Given the description of an element on the screen output the (x, y) to click on. 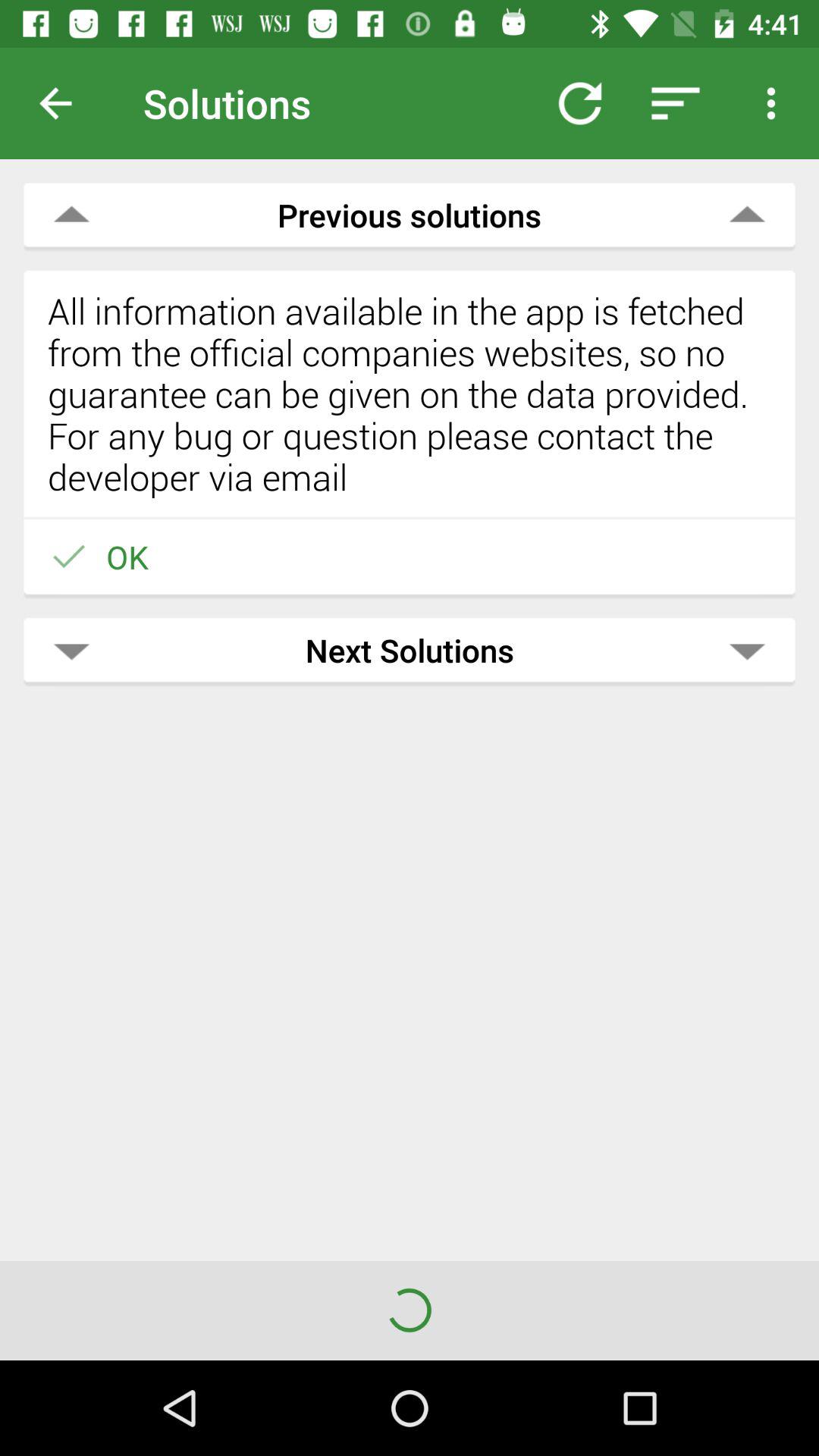
goto previous page (67, 103)
